Given the description of an element on the screen output the (x, y) to click on. 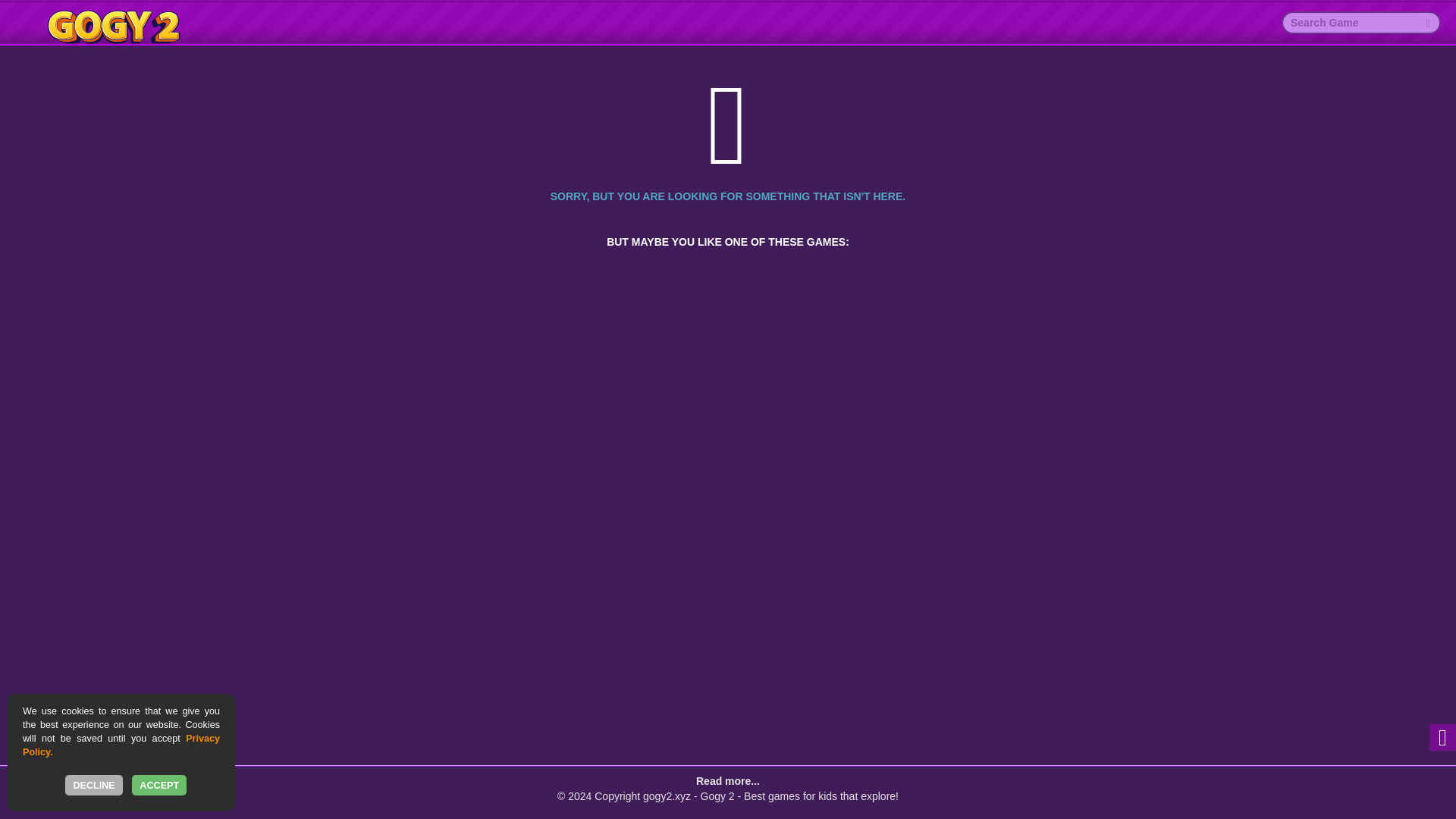
Privacy Policy. (121, 745)
